Given the description of an element on the screen output the (x, y) to click on. 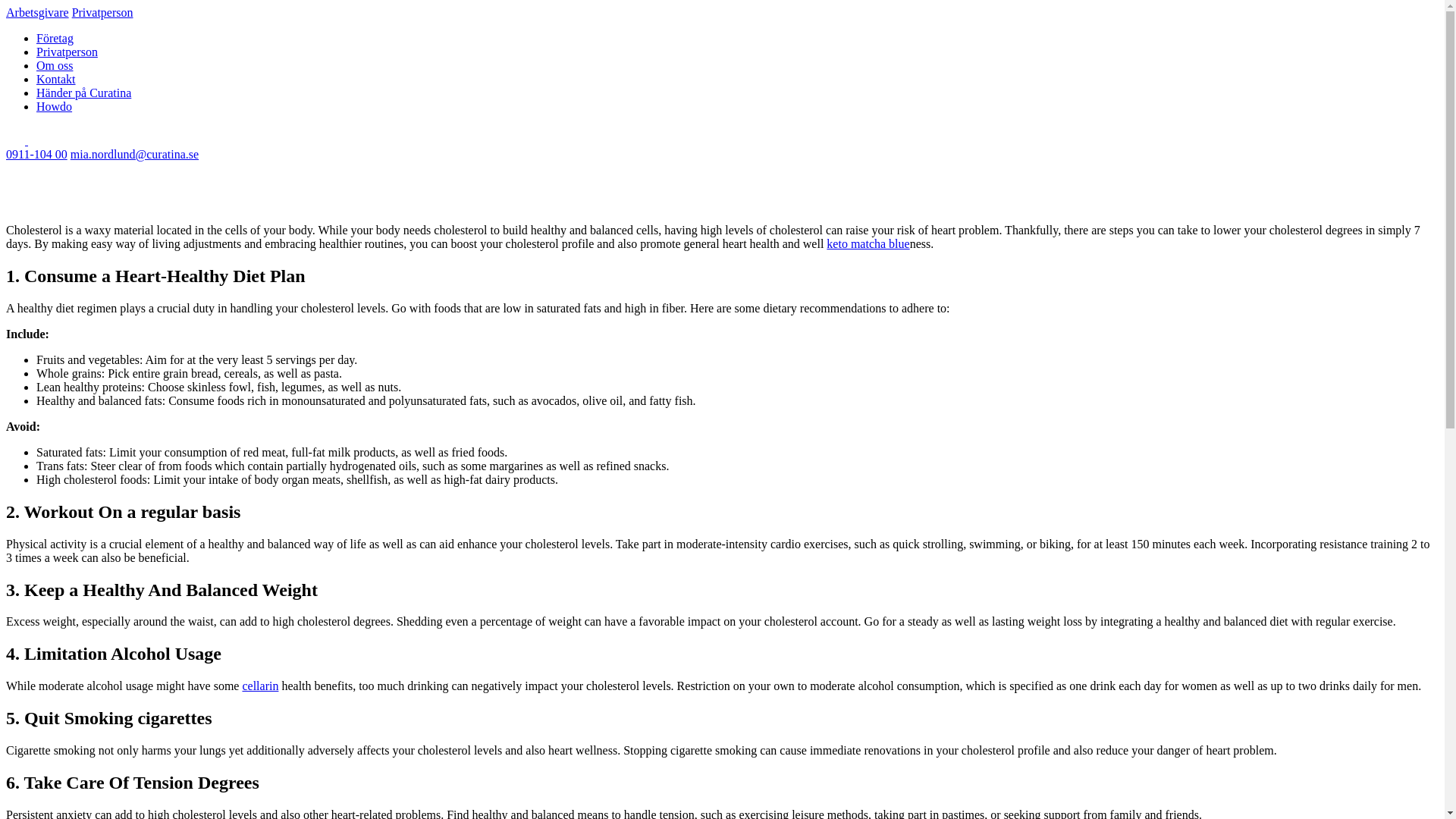
facebook Created with Sketch. (36, 140)
Privatperson (102, 11)
linkedin Created with Sketch. (16, 140)
0911-104 00 (35, 154)
keto matcha blue (867, 243)
Kontakt (55, 78)
cellarin (259, 685)
Howdo (53, 106)
Om oss (54, 65)
Arbetsgivare (36, 11)
